Given the description of an element on the screen output the (x, y) to click on. 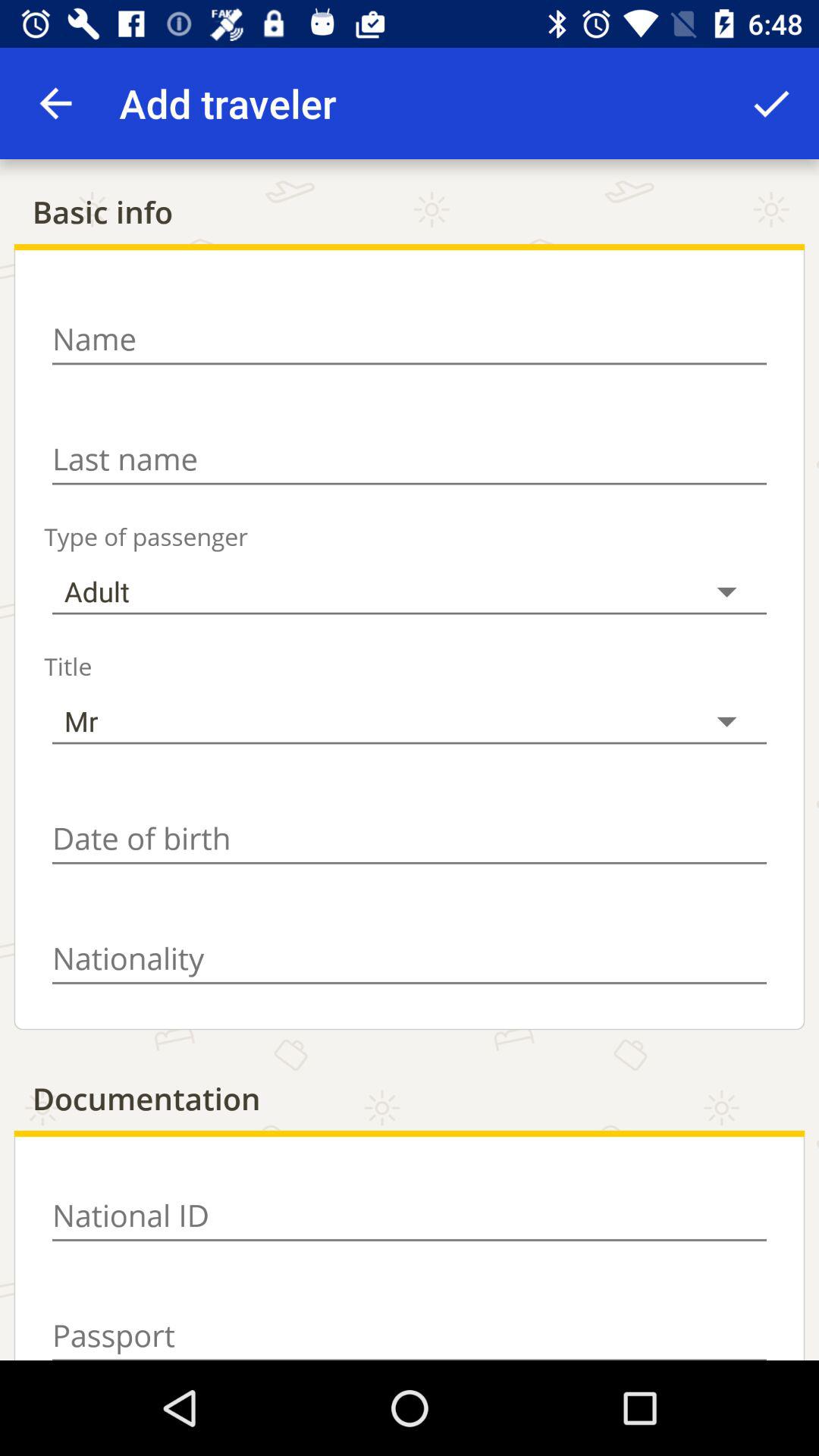
enter national id (409, 1215)
